Given the description of an element on the screen output the (x, y) to click on. 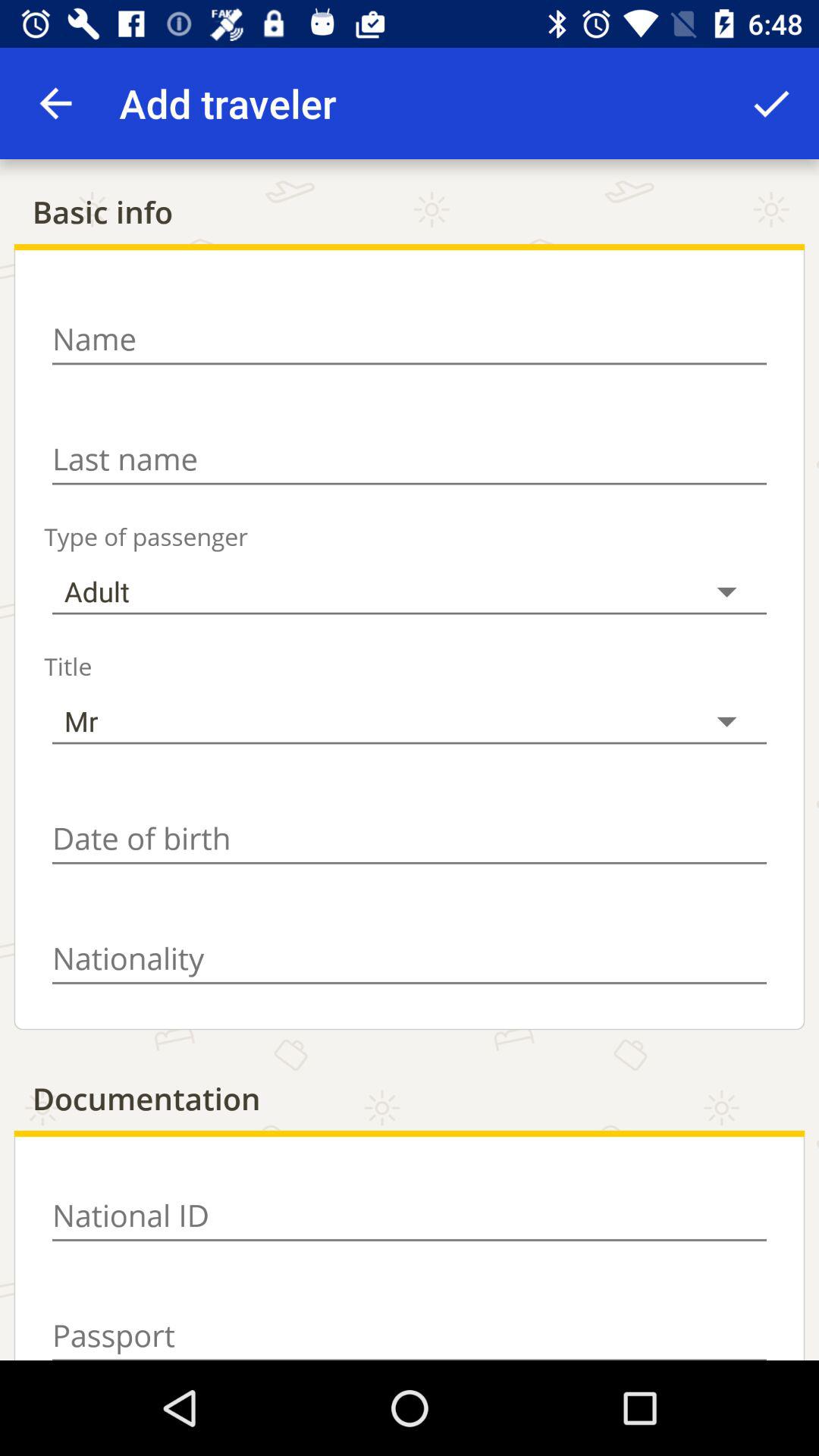
enter national id (409, 1215)
